Given the description of an element on the screen output the (x, y) to click on. 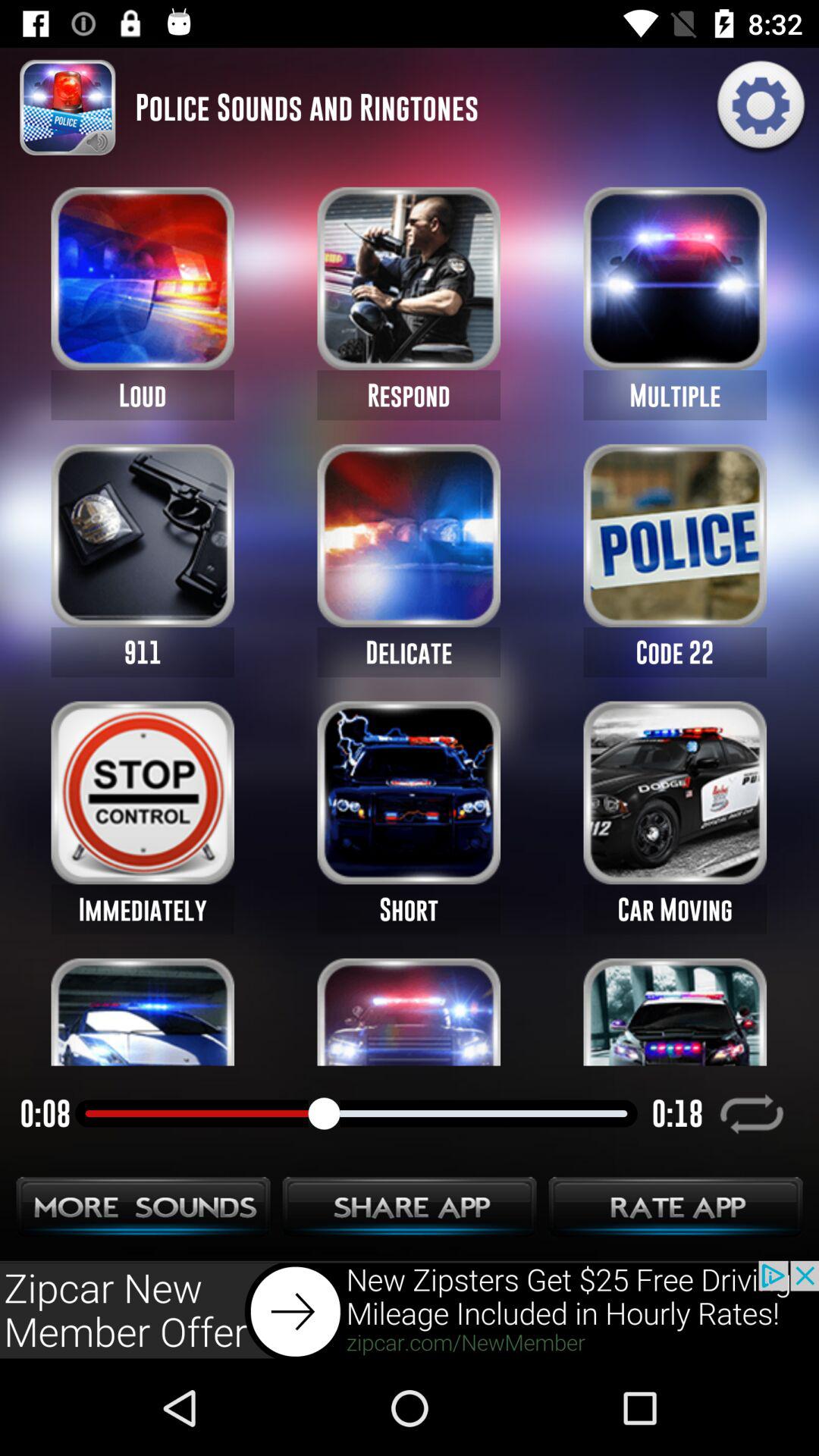
go next button (409, 1310)
